Given the description of an element on the screen output the (x, y) to click on. 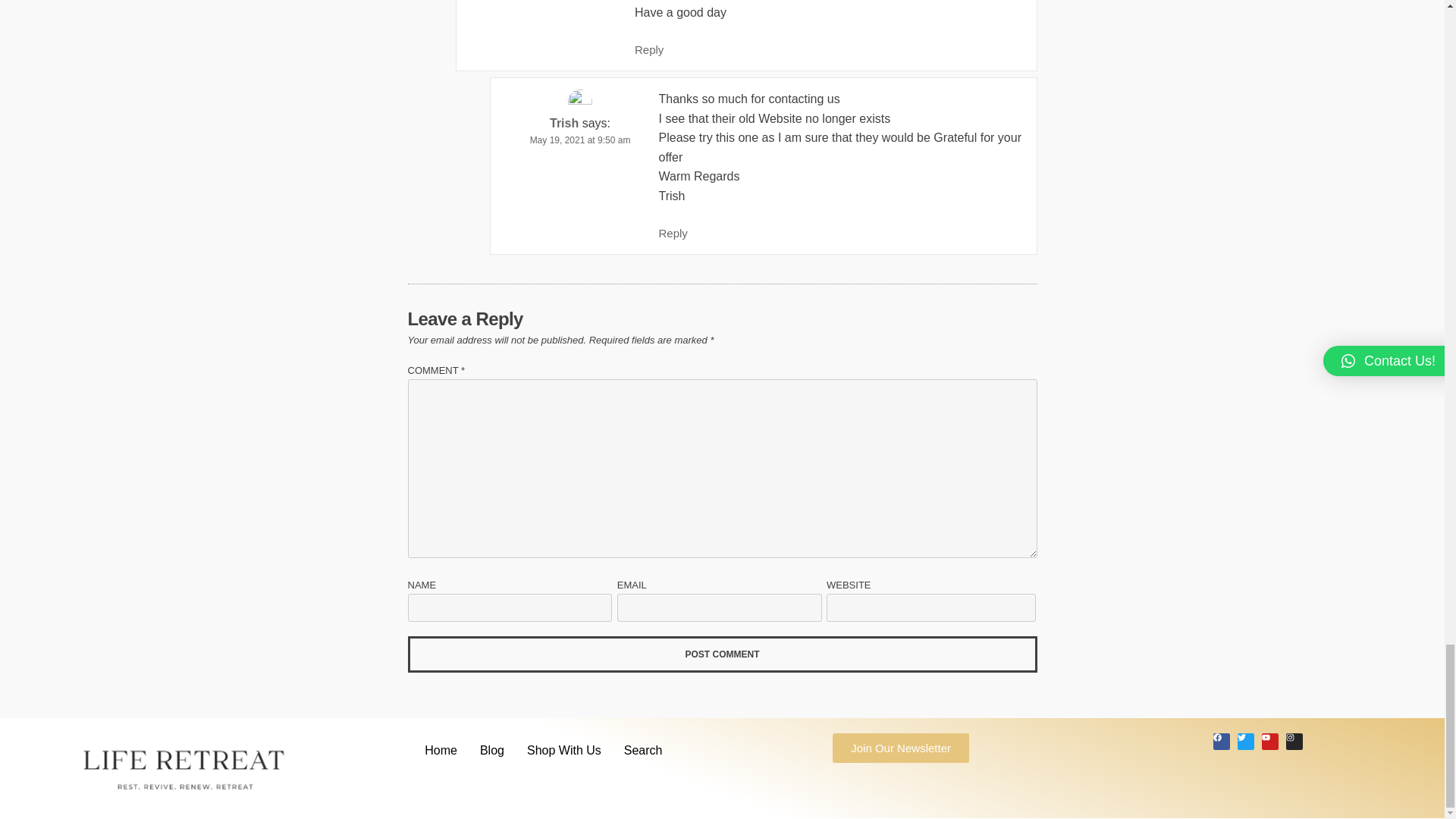
Post Comment (721, 654)
